Given the description of an element on the screen output the (x, y) to click on. 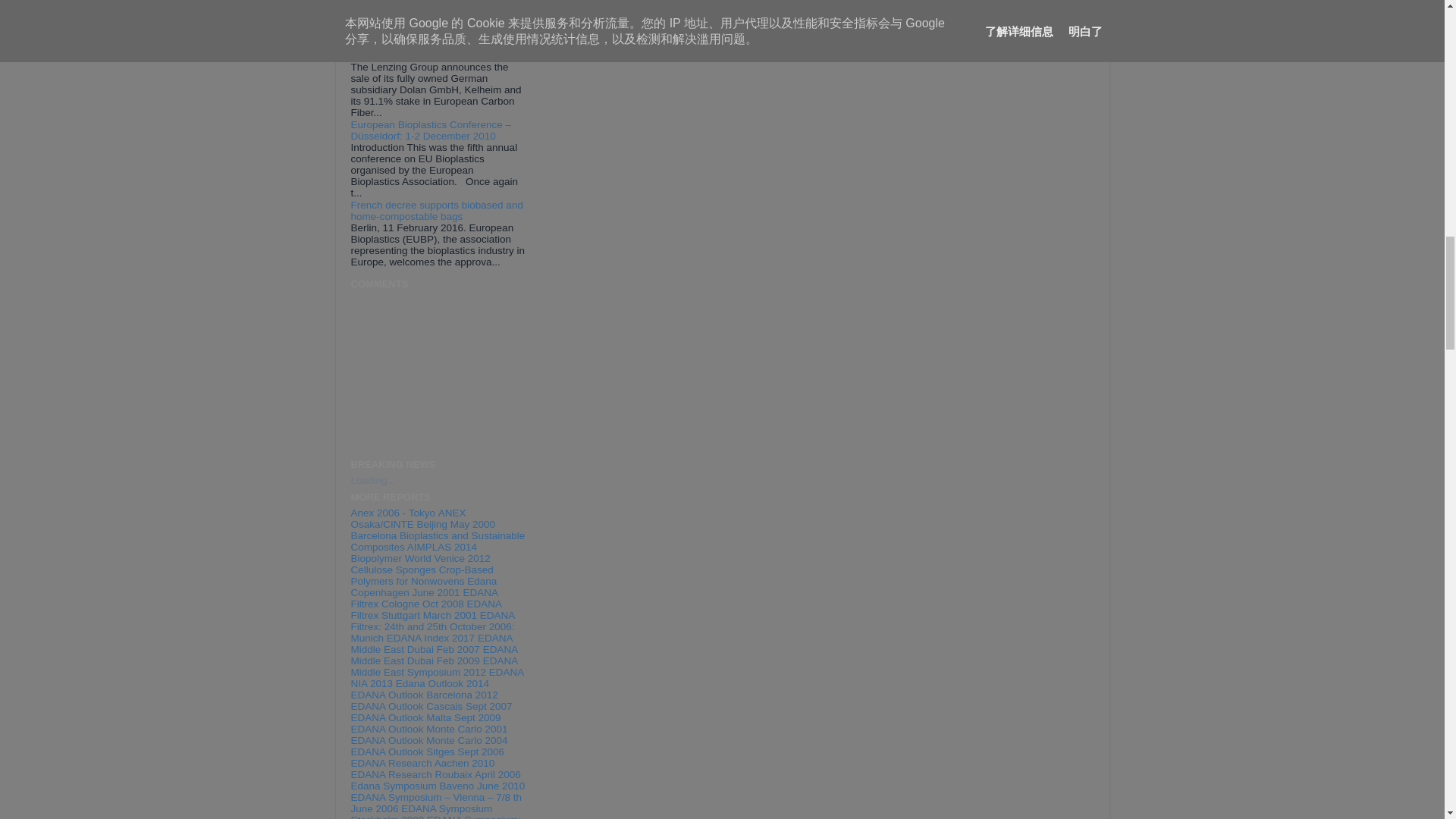
French decree supports biobased and home-compostable bags (436, 210)
